Given the description of an element on the screen output the (x, y) to click on. 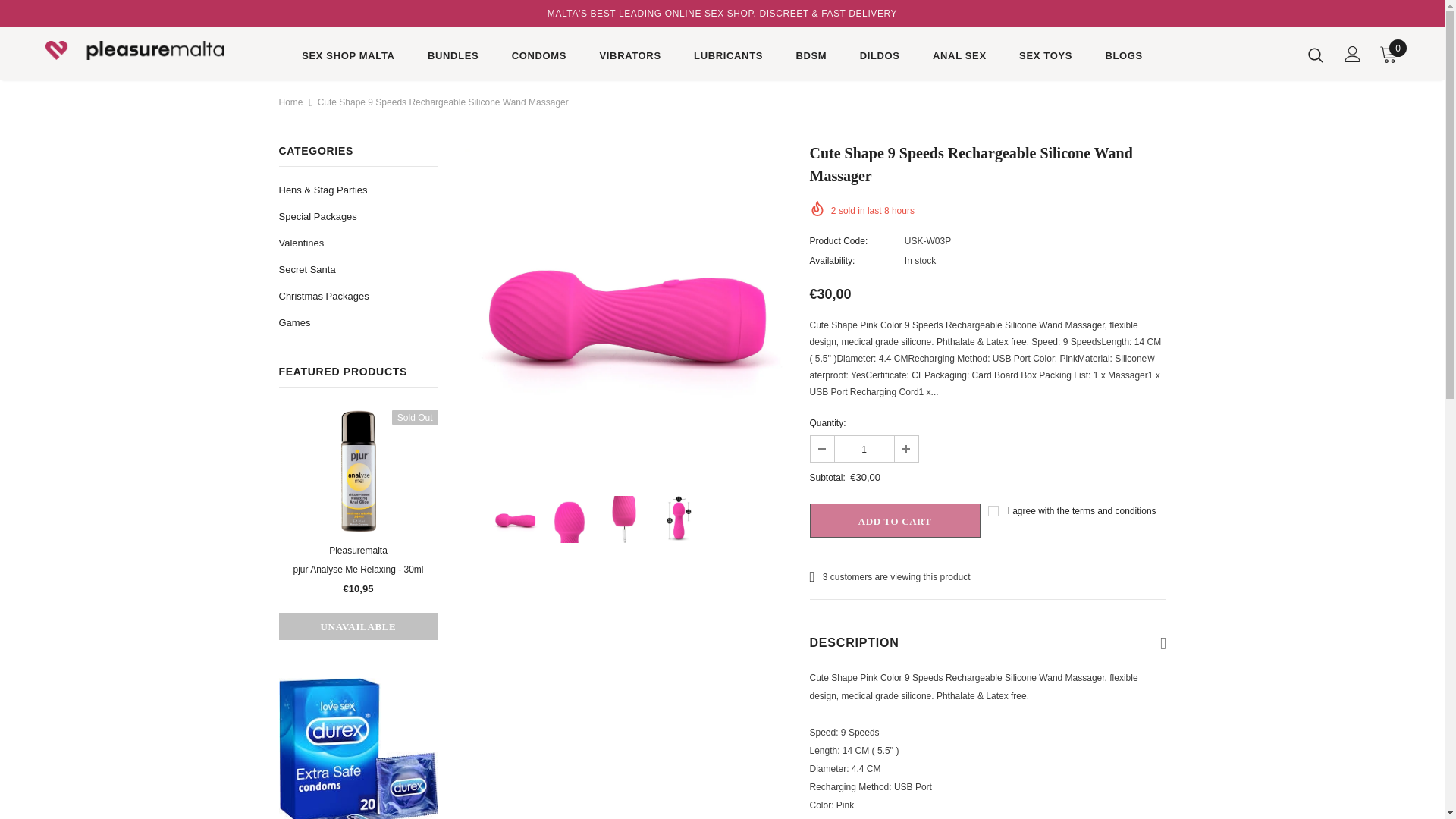
CONDOMS (539, 58)
LUBRICANTS (728, 58)
VIBRATORS (630, 58)
BUNDLES (453, 58)
DILDOS (879, 58)
ANAL SEX (960, 58)
1 (863, 448)
Search Icon (1315, 54)
Add to Cart (894, 520)
Logo (134, 49)
